Given the description of an element on the screen output the (x, y) to click on. 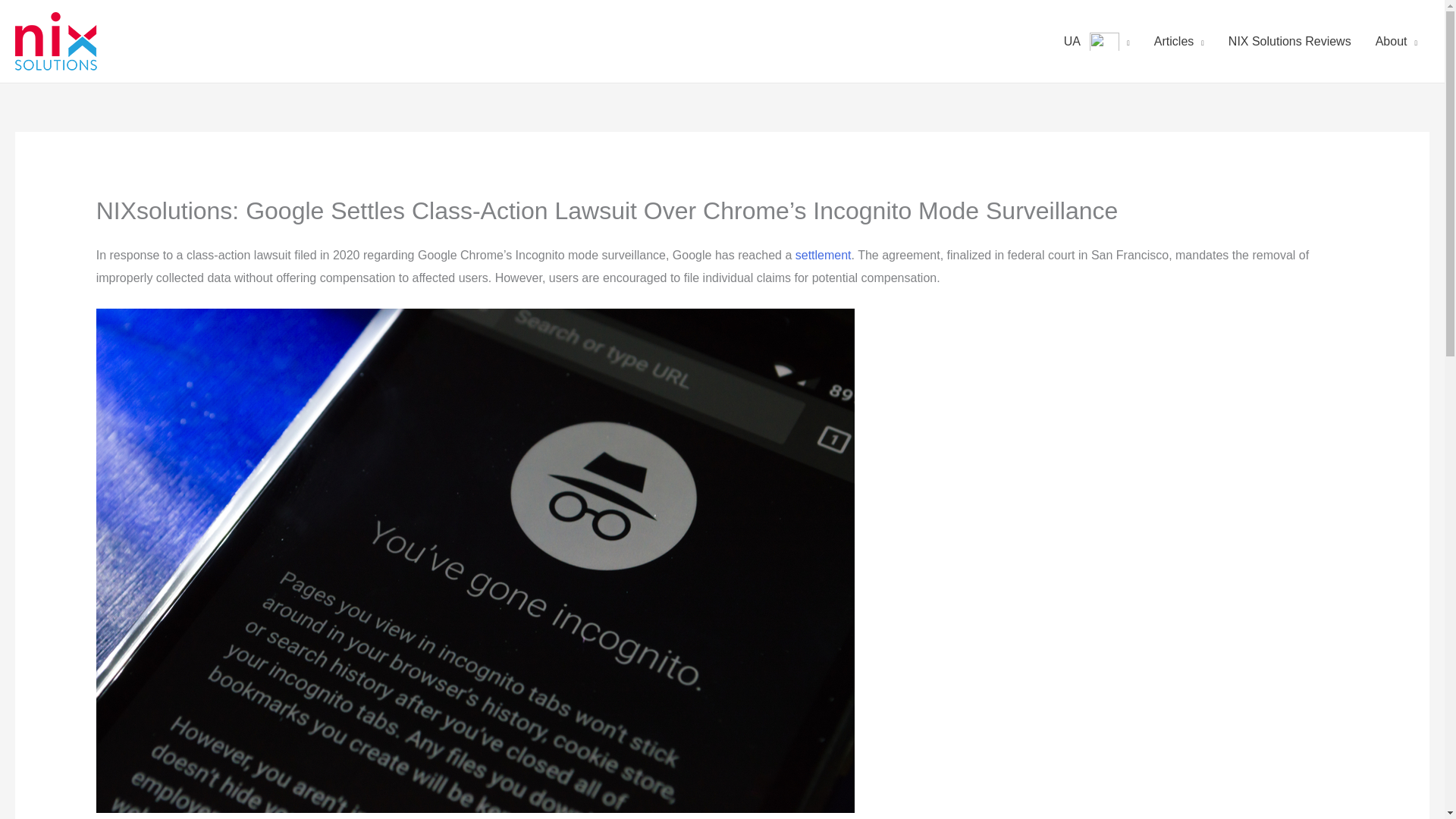
Articles (1178, 40)
UA   (1096, 40)
Ukrainian (1104, 41)
